Given the description of an element on the screen output the (x, y) to click on. 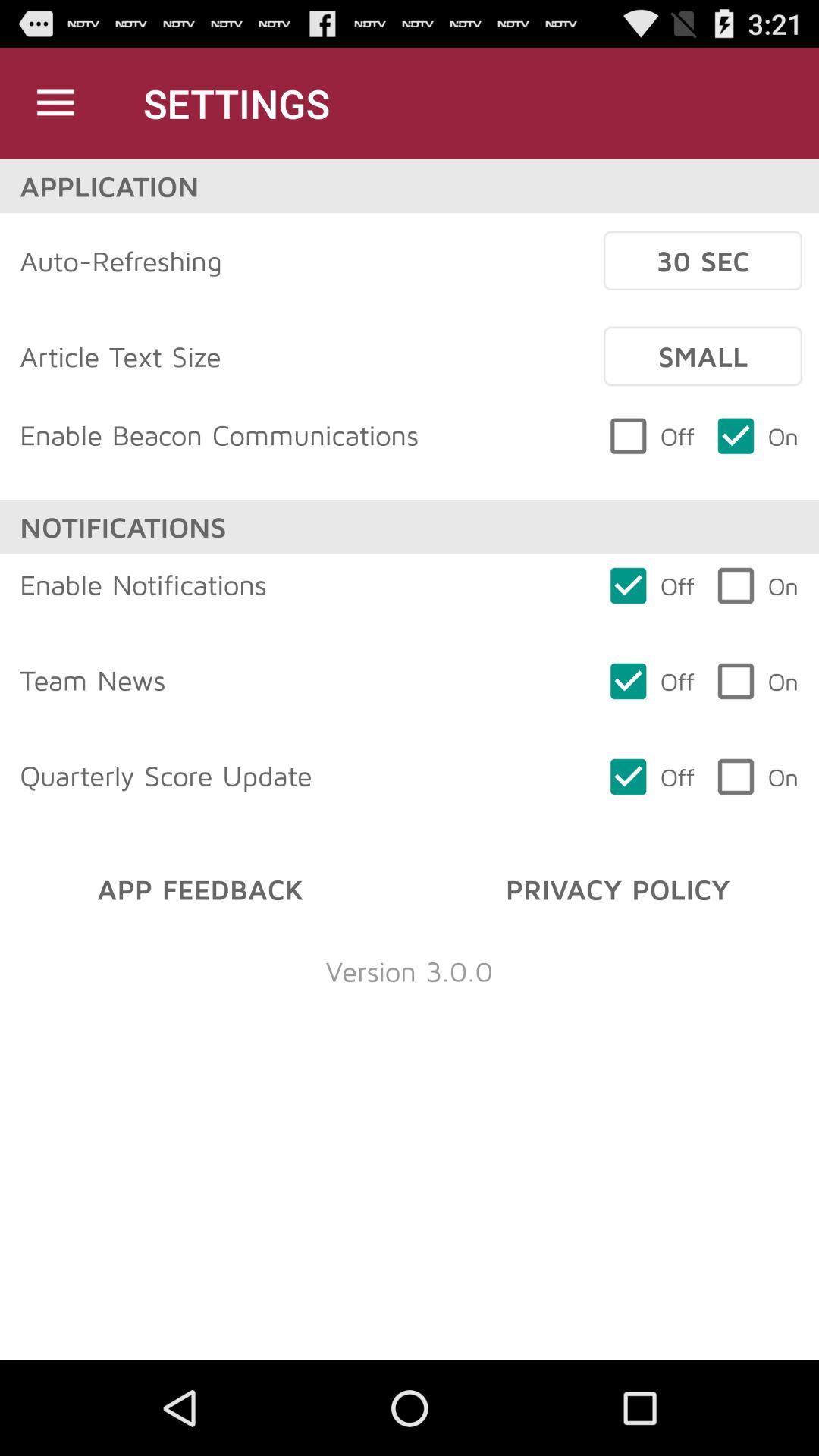
turn off version 3 0 at the bottom (409, 970)
